Given the description of an element on the screen output the (x, y) to click on. 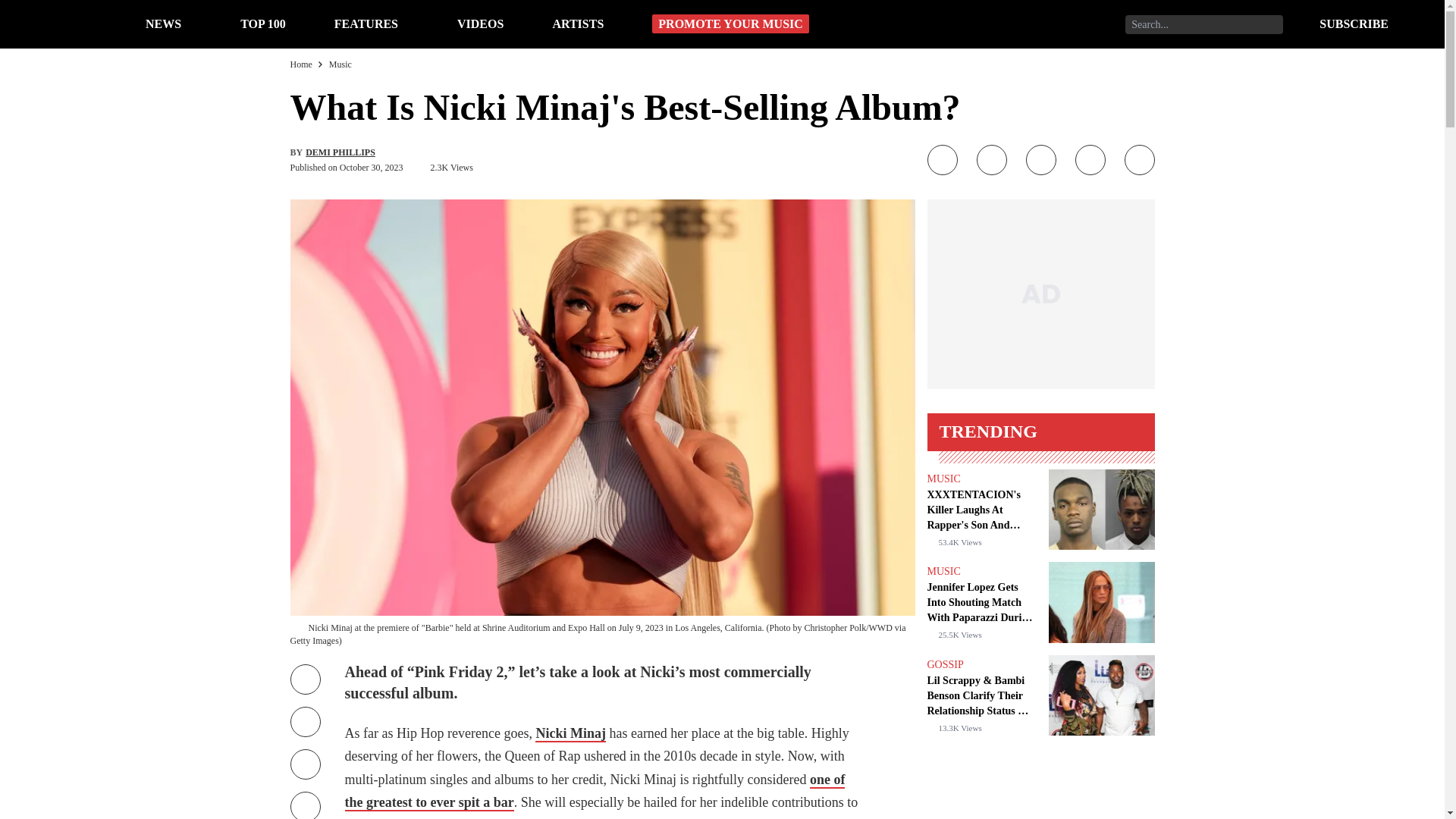
October 30, 2023 (371, 167)
one of the greatest to ever spit a bar (593, 792)
Nicki Minaj (570, 733)
Music (340, 63)
DEMI PHILLIPS (340, 152)
Home (300, 63)
